Given the description of an element on the screen output the (x, y) to click on. 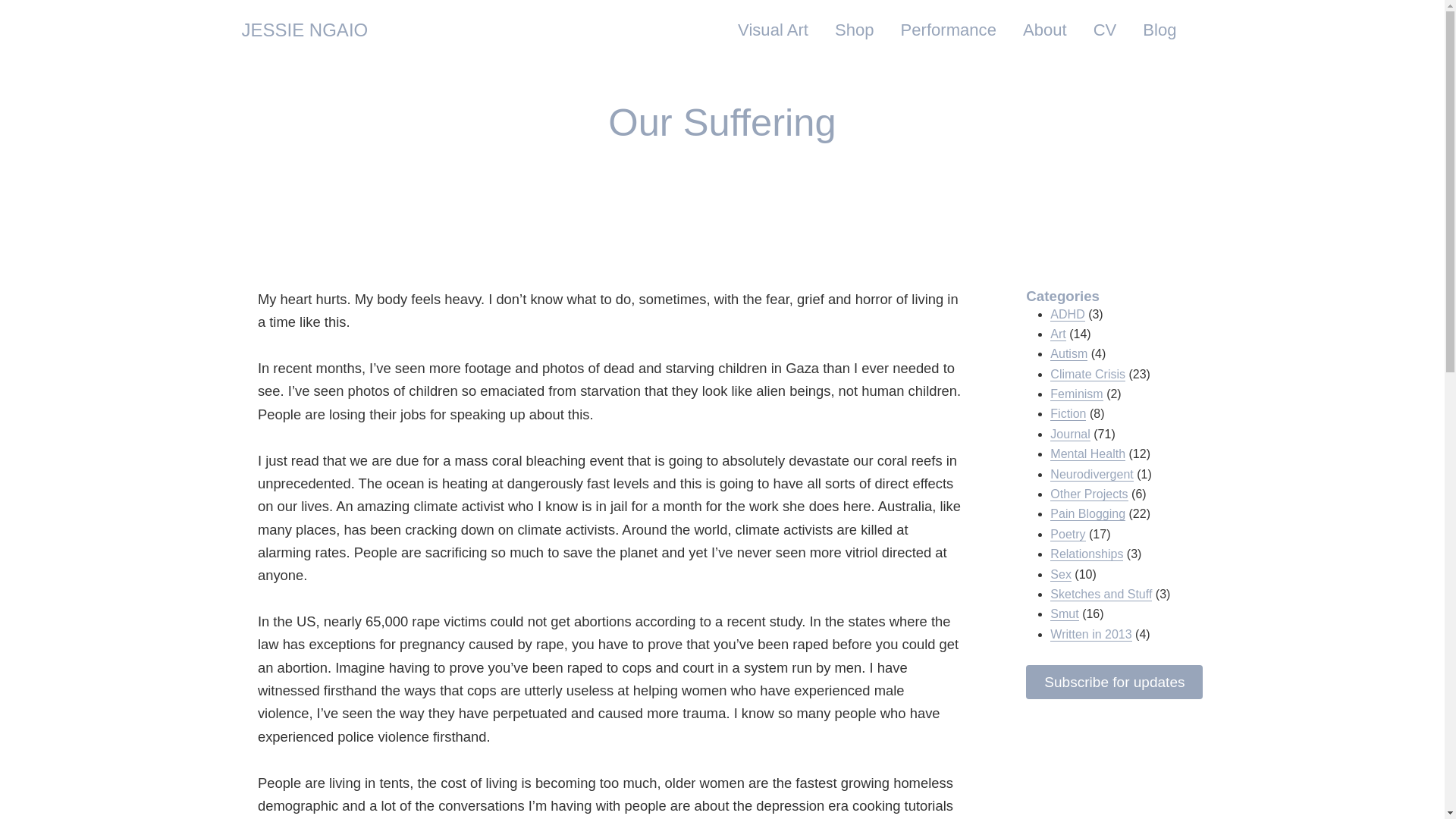
Neurodivergent (1090, 474)
Relationships (1085, 554)
Shop (854, 30)
Mental Health (1087, 454)
Other Projects (1087, 494)
Pain Blogging (1087, 513)
ADHD (1066, 314)
Feminism (1075, 394)
Sex (1060, 574)
Autism (1068, 354)
Visual Art (773, 30)
Fiction (1067, 413)
JESSIE NGAIO (304, 29)
Climate Crisis (1087, 374)
About (1045, 30)
